Given the description of an element on the screen output the (x, y) to click on. 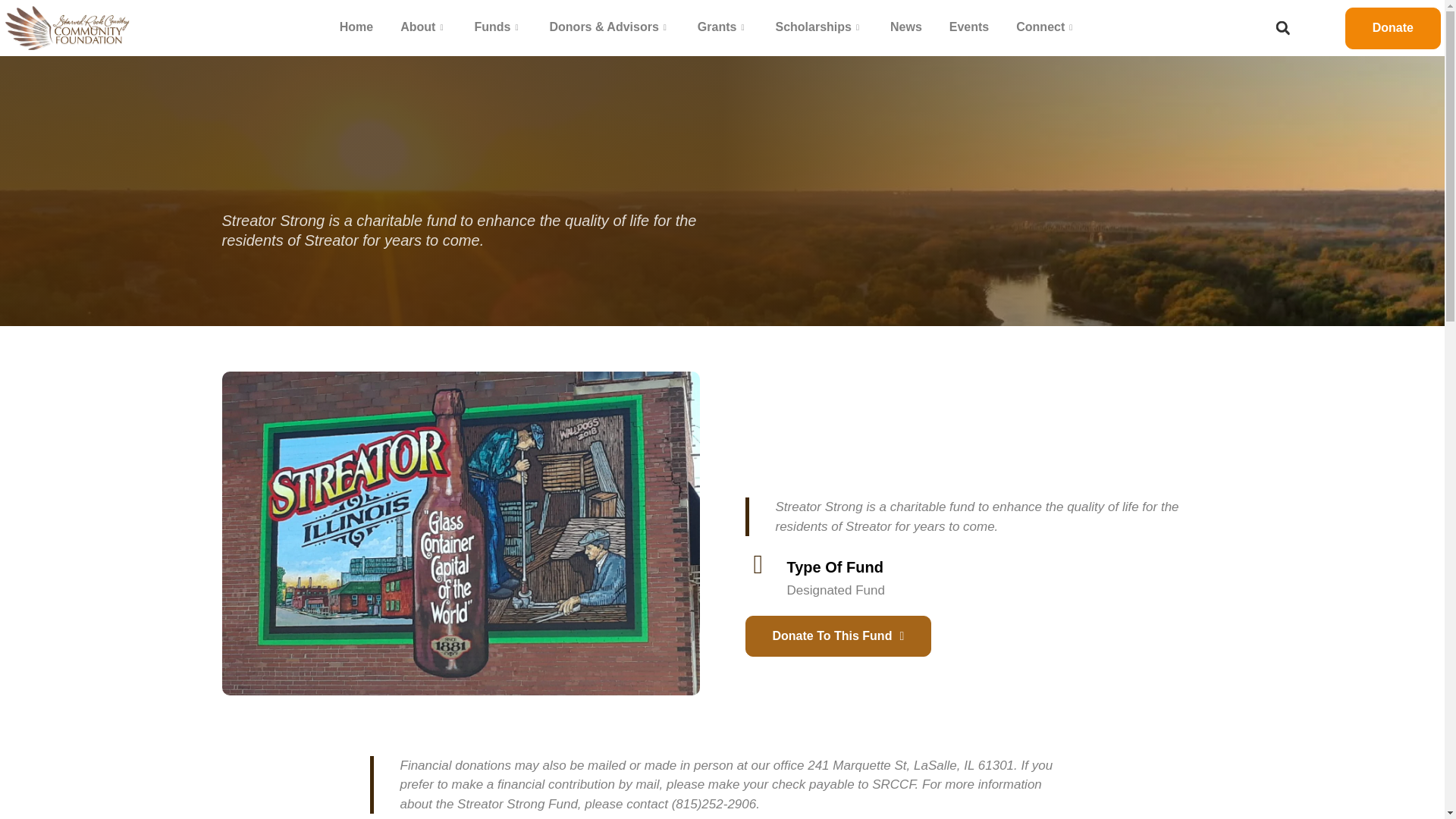
About (423, 27)
Funds (497, 27)
